Given the description of an element on the screen output the (x, y) to click on. 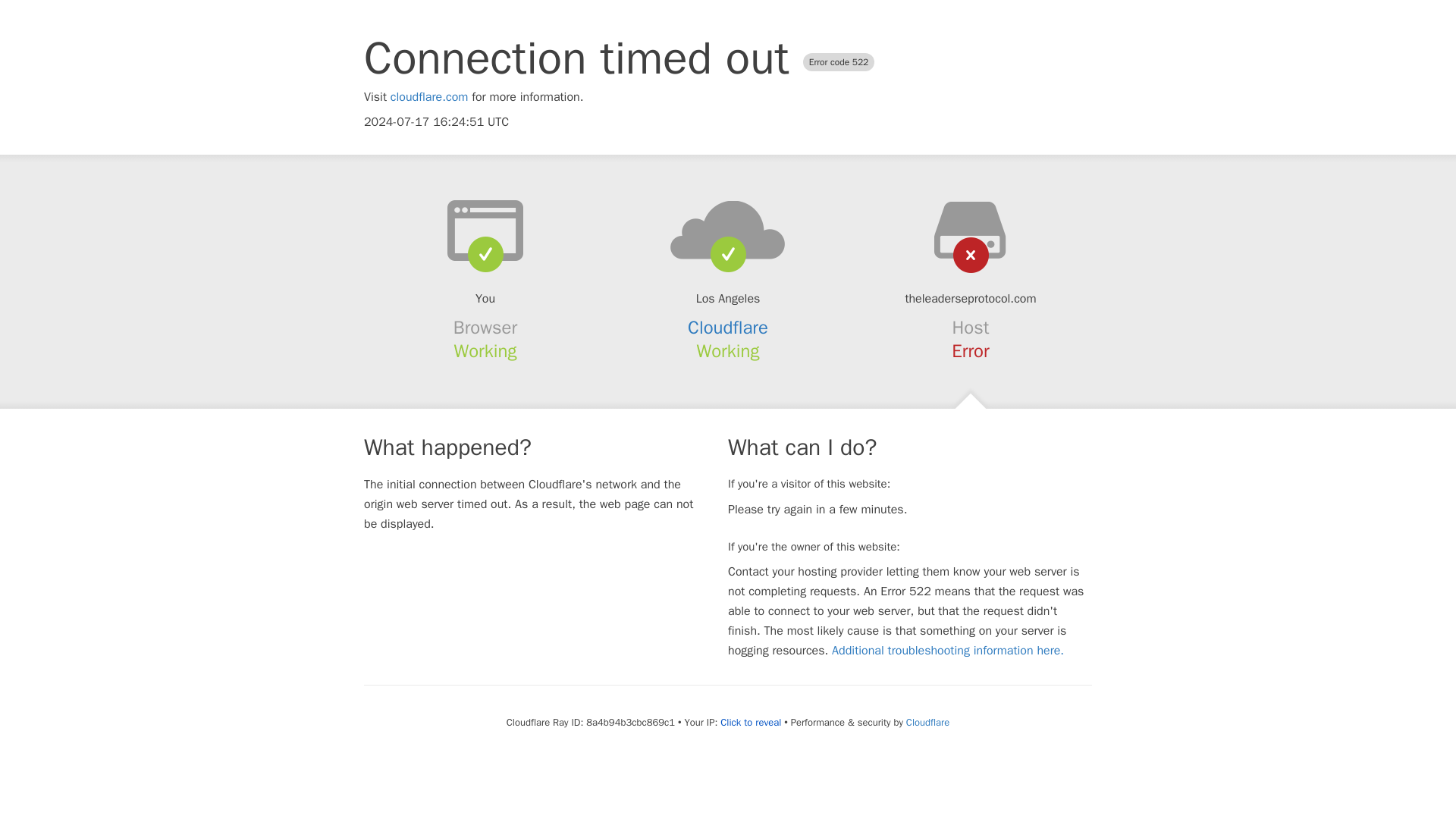
Cloudflare (927, 721)
Additional troubleshooting information here. (947, 650)
Cloudflare (727, 327)
Click to reveal (750, 722)
cloudflare.com (429, 96)
